Given the description of an element on the screen output the (x, y) to click on. 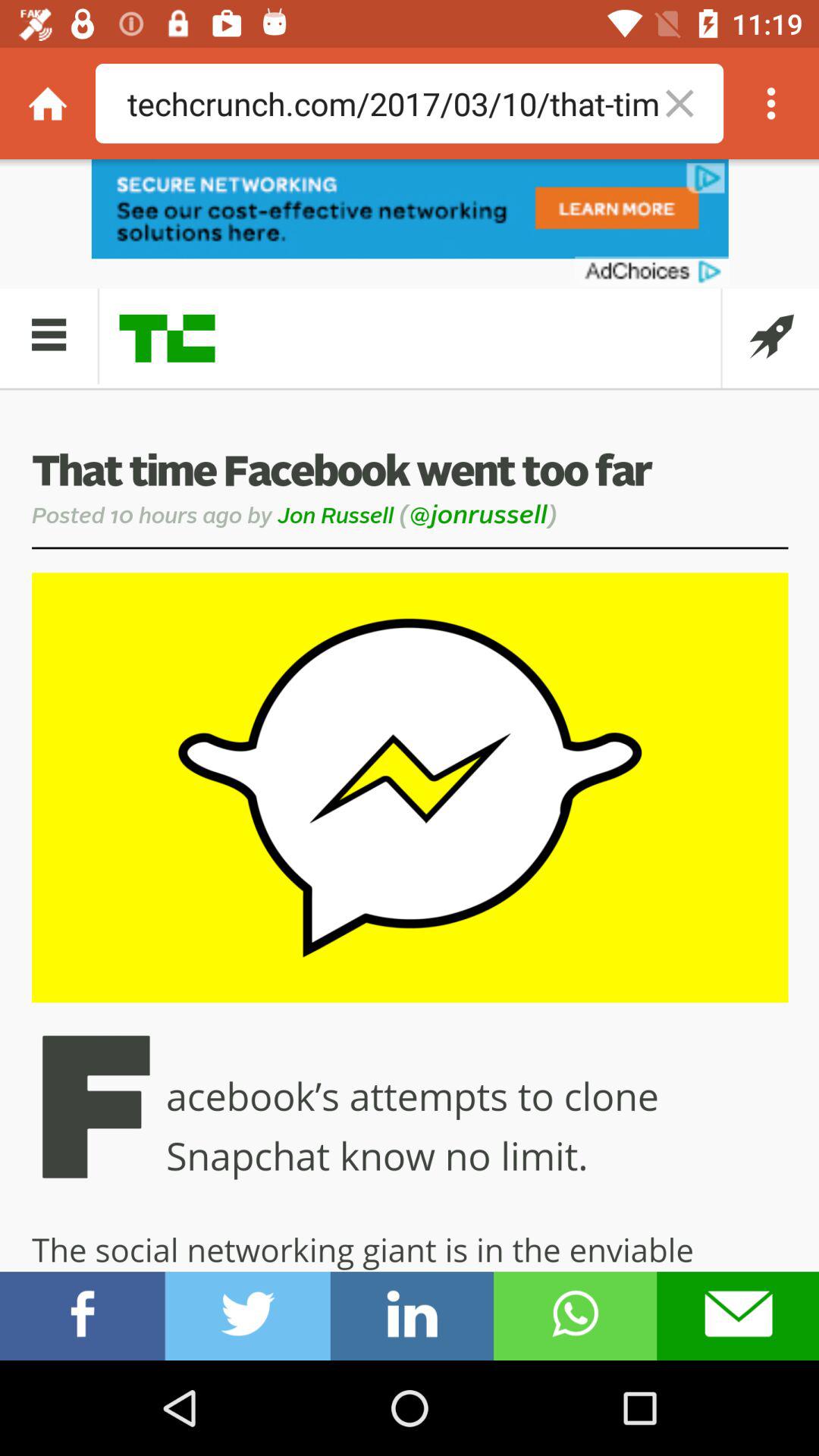
home (47, 103)
